Given the description of an element on the screen output the (x, y) to click on. 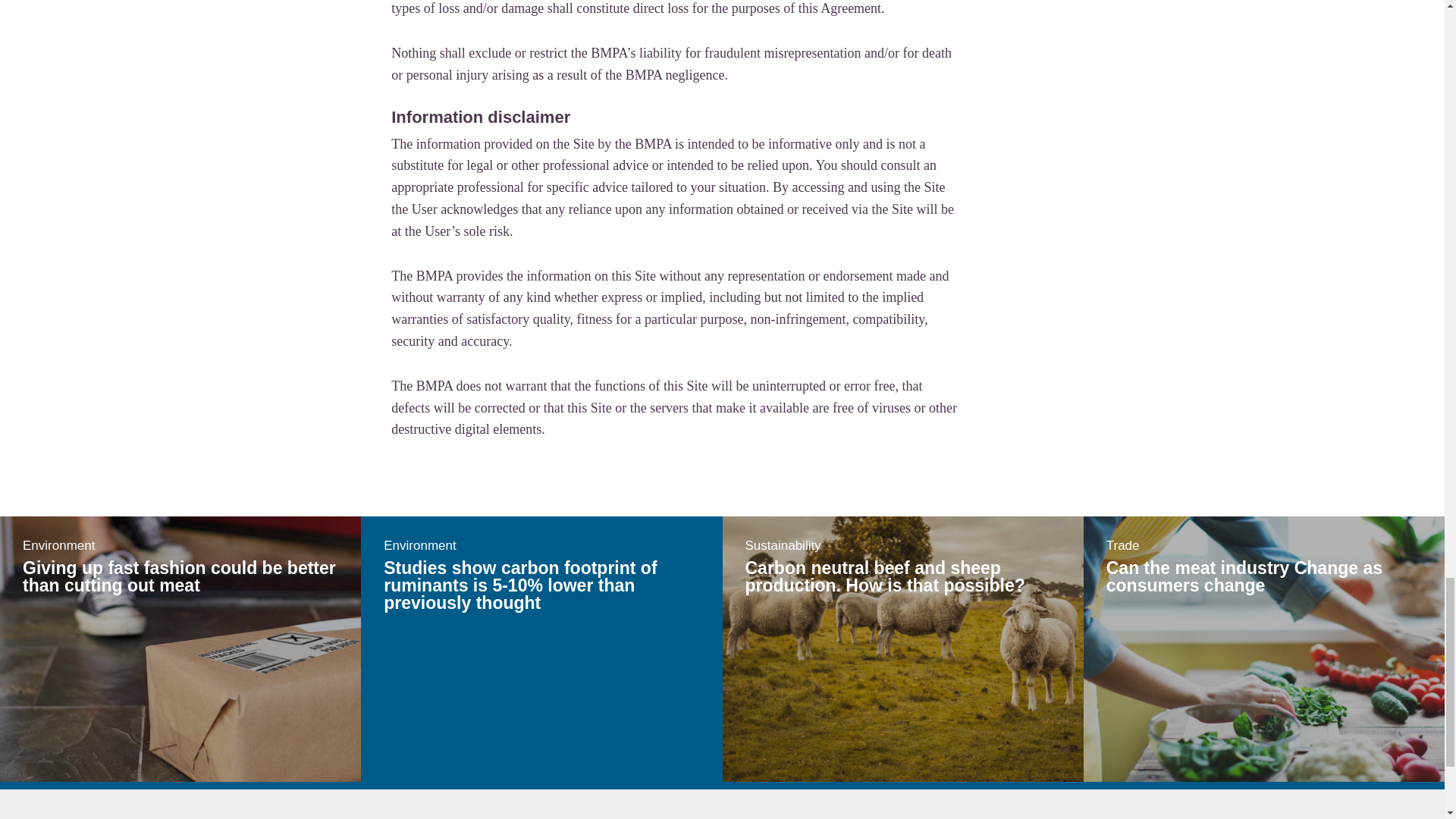
Giving up fast fashion could be better than cutting out meat (179, 576)
Can the meat industry Change as consumers change (1243, 576)
